Given the description of an element on the screen output the (x, y) to click on. 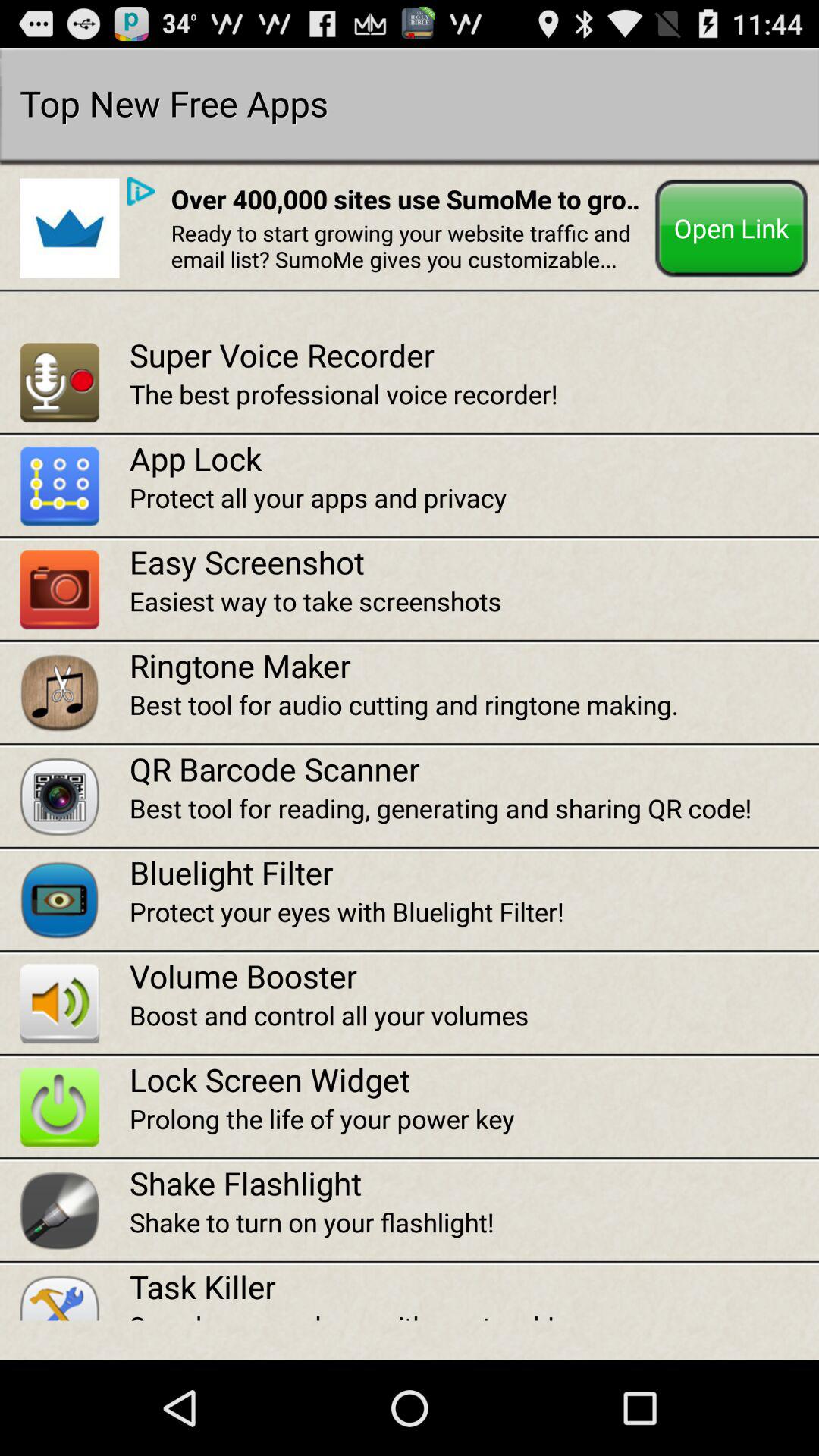
swipe to task killer app (474, 1286)
